Given the description of an element on the screen output the (x, y) to click on. 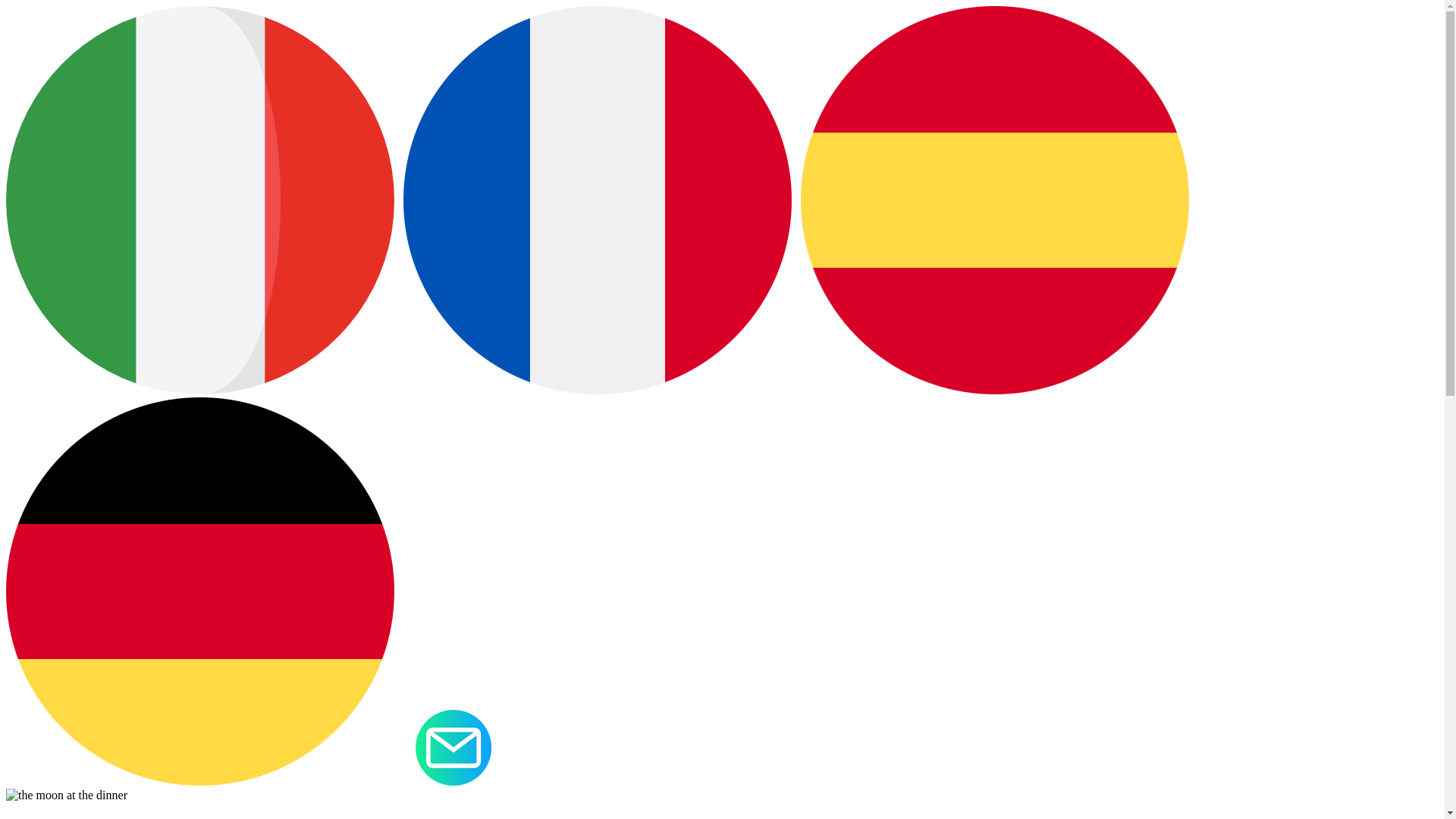
scrivici (453, 747)
